Given the description of an element on the screen output the (x, y) to click on. 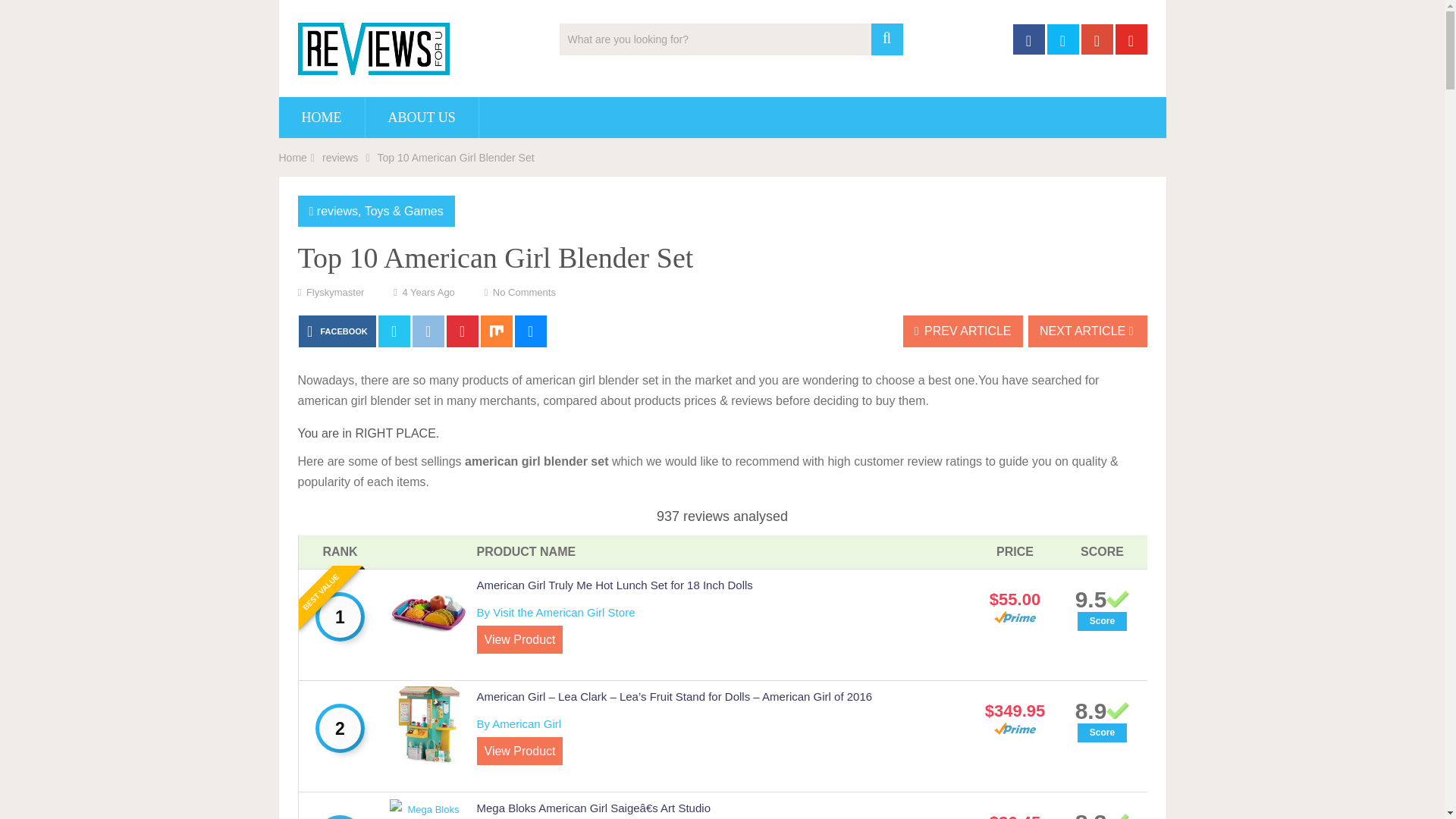
ABOUT US (422, 117)
HOME (322, 117)
No Comments (524, 292)
By Visit the American Girl Store (555, 612)
American Girl Truly Me Hot Lunch Set for 18 Inch Dolls (614, 584)
By American Girl (518, 723)
Home (293, 157)
View Product (519, 639)
reviews (337, 210)
PREV ARTICLE (962, 331)
